Given the description of an element on the screen output the (x, y) to click on. 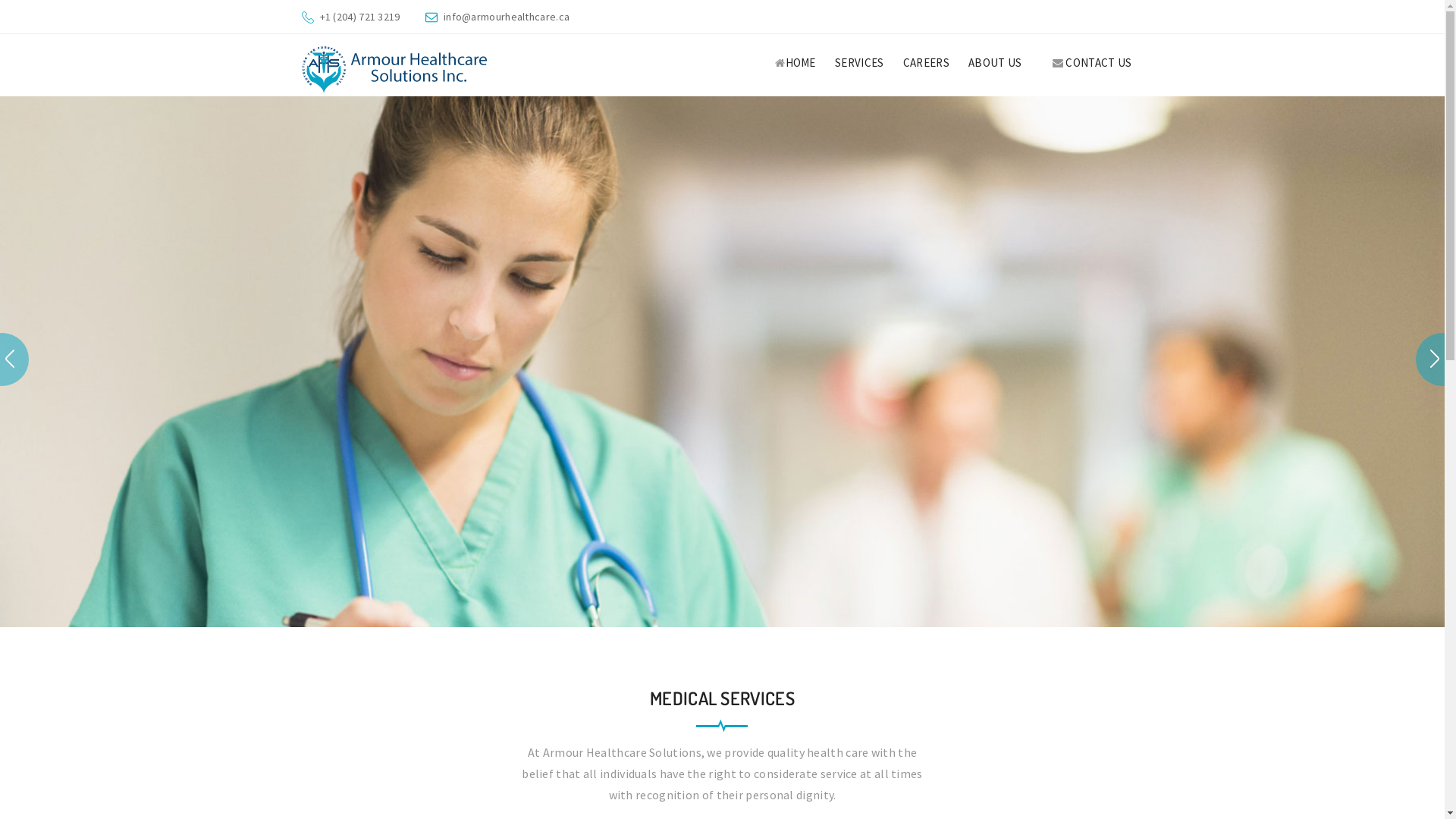
CONTACT US Element type: text (1092, 65)
CAREERS Element type: text (926, 65)
HOME Element type: text (795, 65)
ABOUT US Element type: text (994, 65)
SERVICES Element type: text (858, 65)
info@armourhealthcare.ca Element type: text (506, 16)
